Given the description of an element on the screen output the (x, y) to click on. 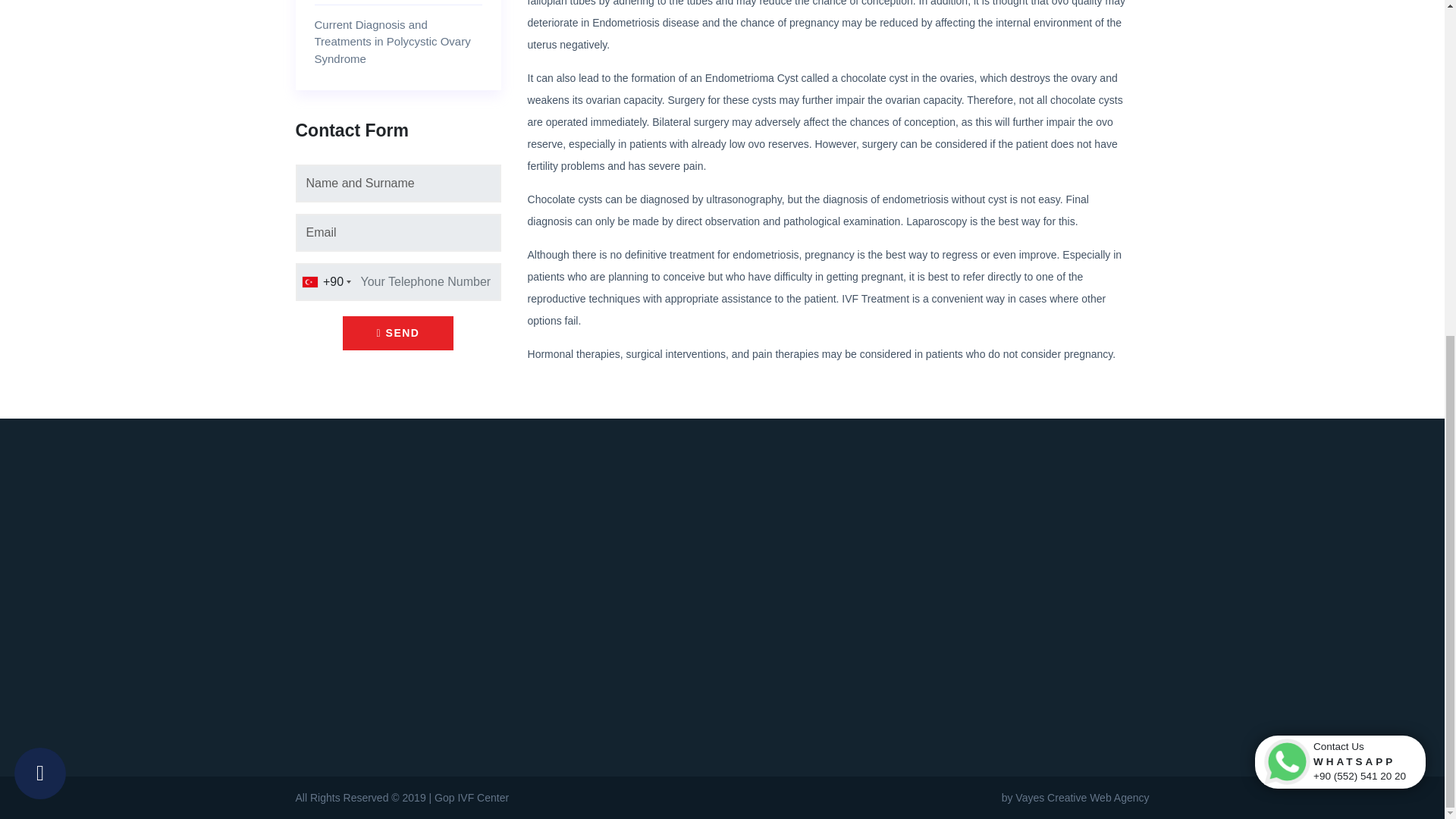
Vayes Digital (1075, 797)
